Given the description of an element on the screen output the (x, y) to click on. 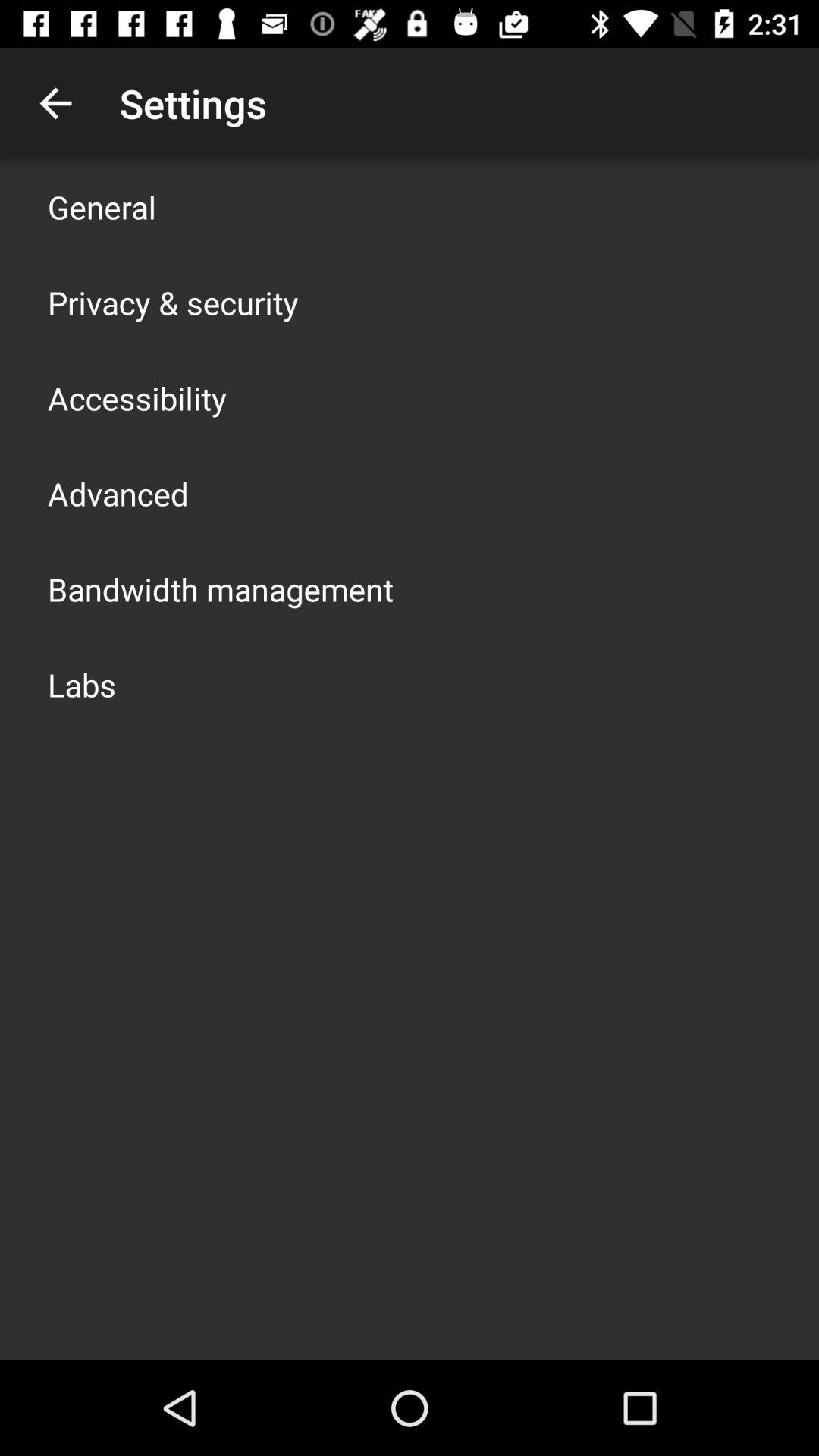
select item below the accessibility item (117, 493)
